Given the description of an element on the screen output the (x, y) to click on. 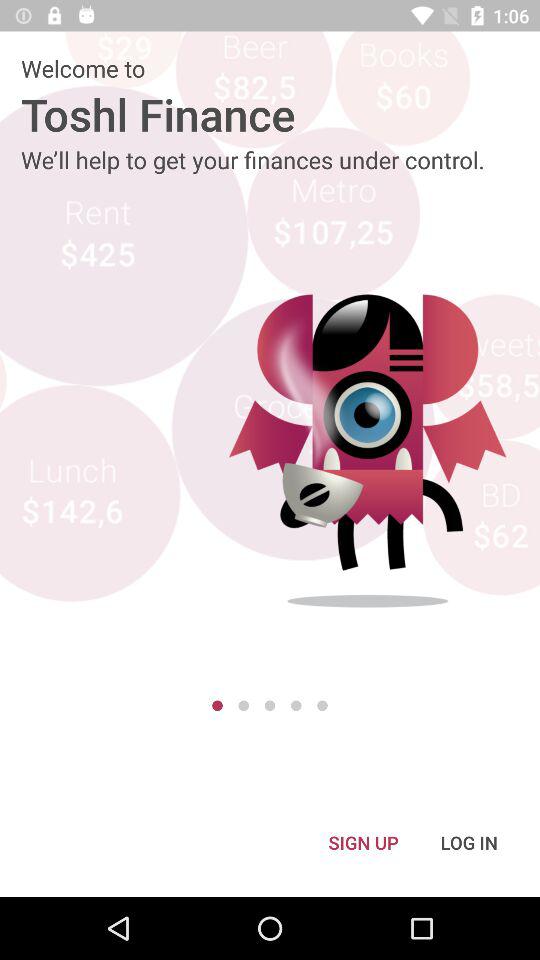
swipe until log in icon (469, 842)
